Given the description of an element on the screen output the (x, y) to click on. 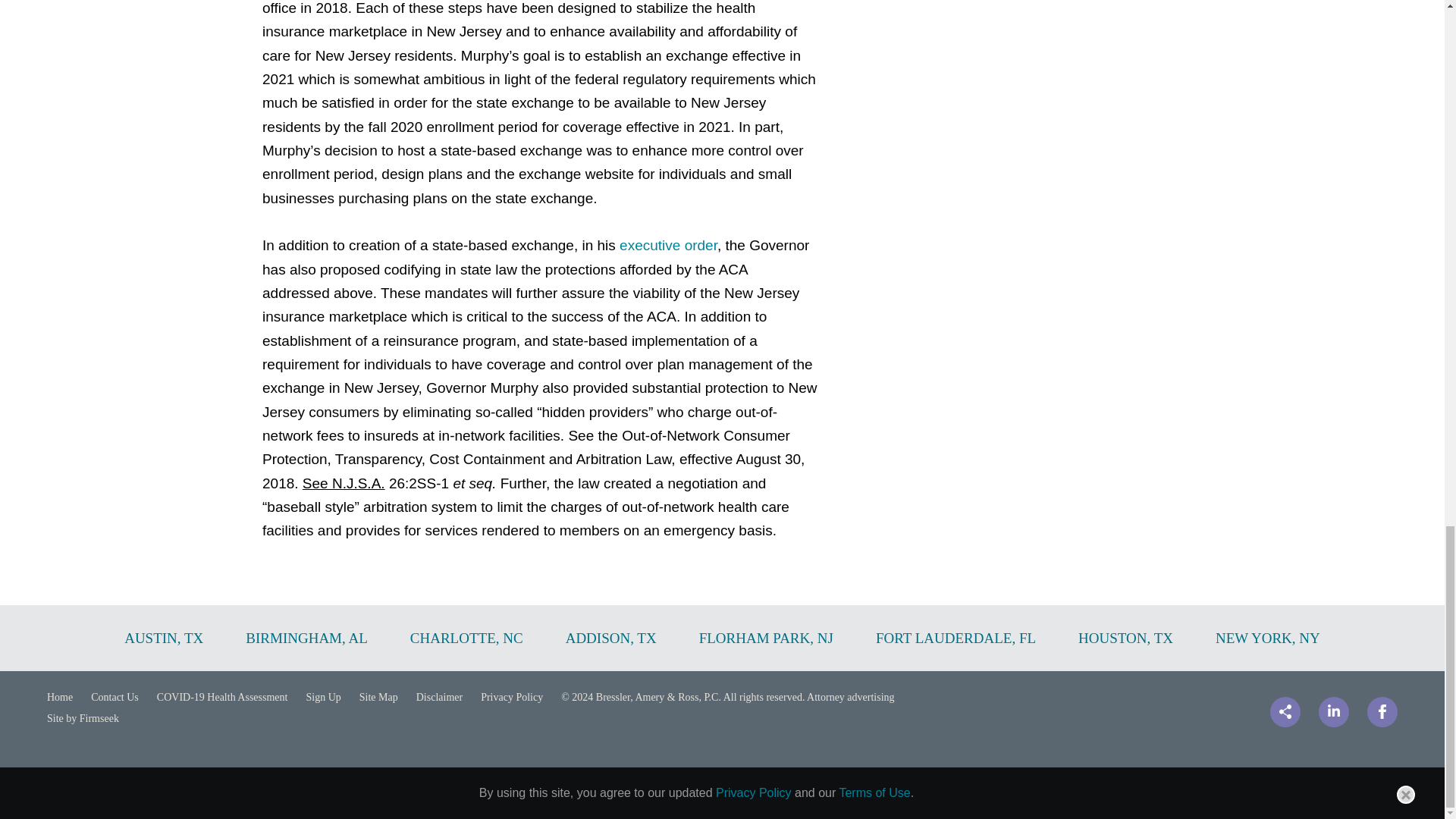
Share (1284, 711)
executive order (668, 245)
